Given the description of an element on the screen output the (x, y) to click on. 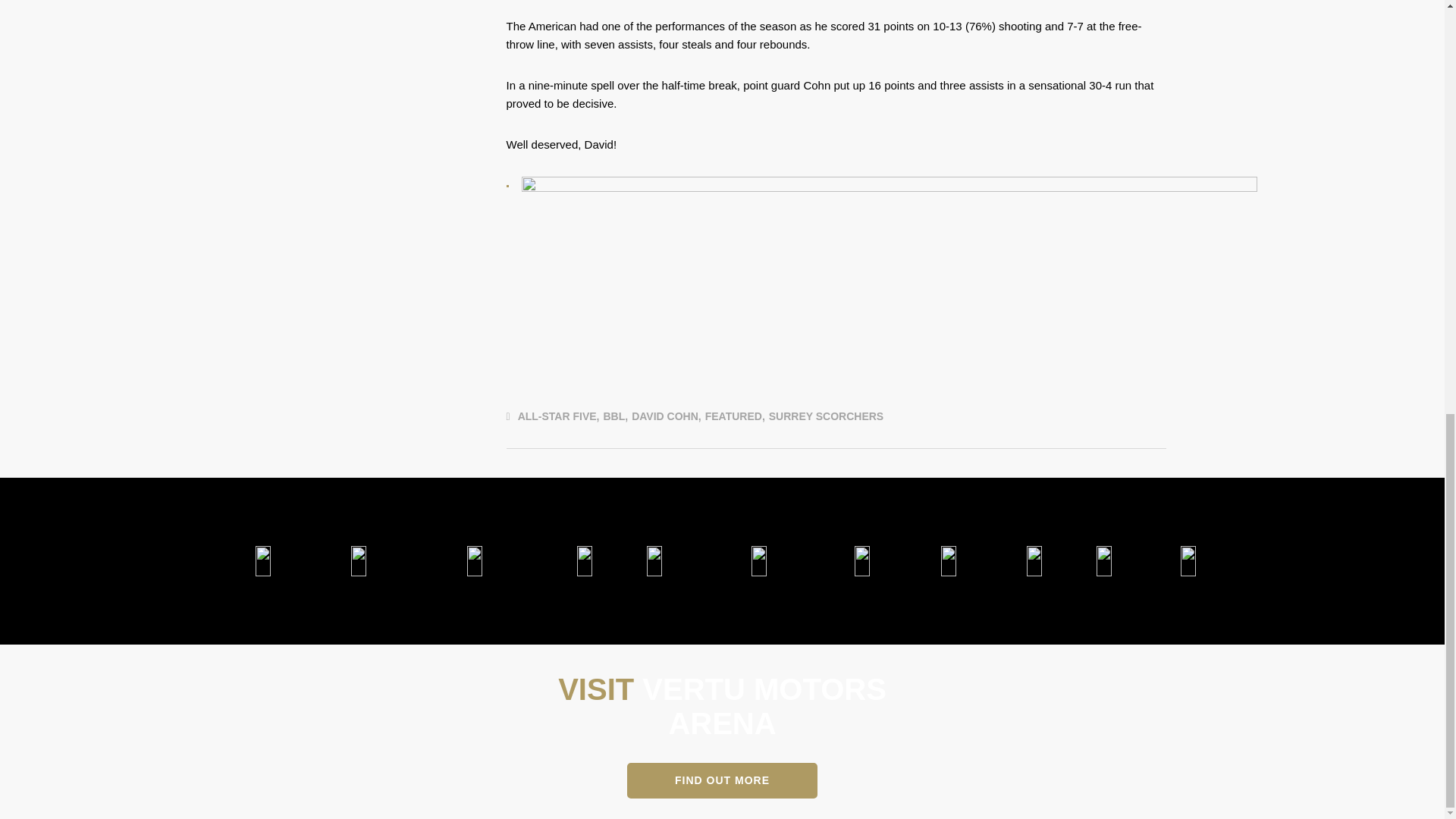
Synergy Sports (1034, 561)
Molten (947, 561)
Northumbria Health (584, 561)
Muckle LLP (473, 561)
Maldron Hotel Newcastle (358, 561)
Kappa (862, 561)
Sure Shot (1103, 561)
Simpson Group (653, 561)
Newcastle International Airport (759, 561)
Vertu Honda (262, 561)
Dynamik (1188, 561)
